Given the description of an element on the screen output the (x, y) to click on. 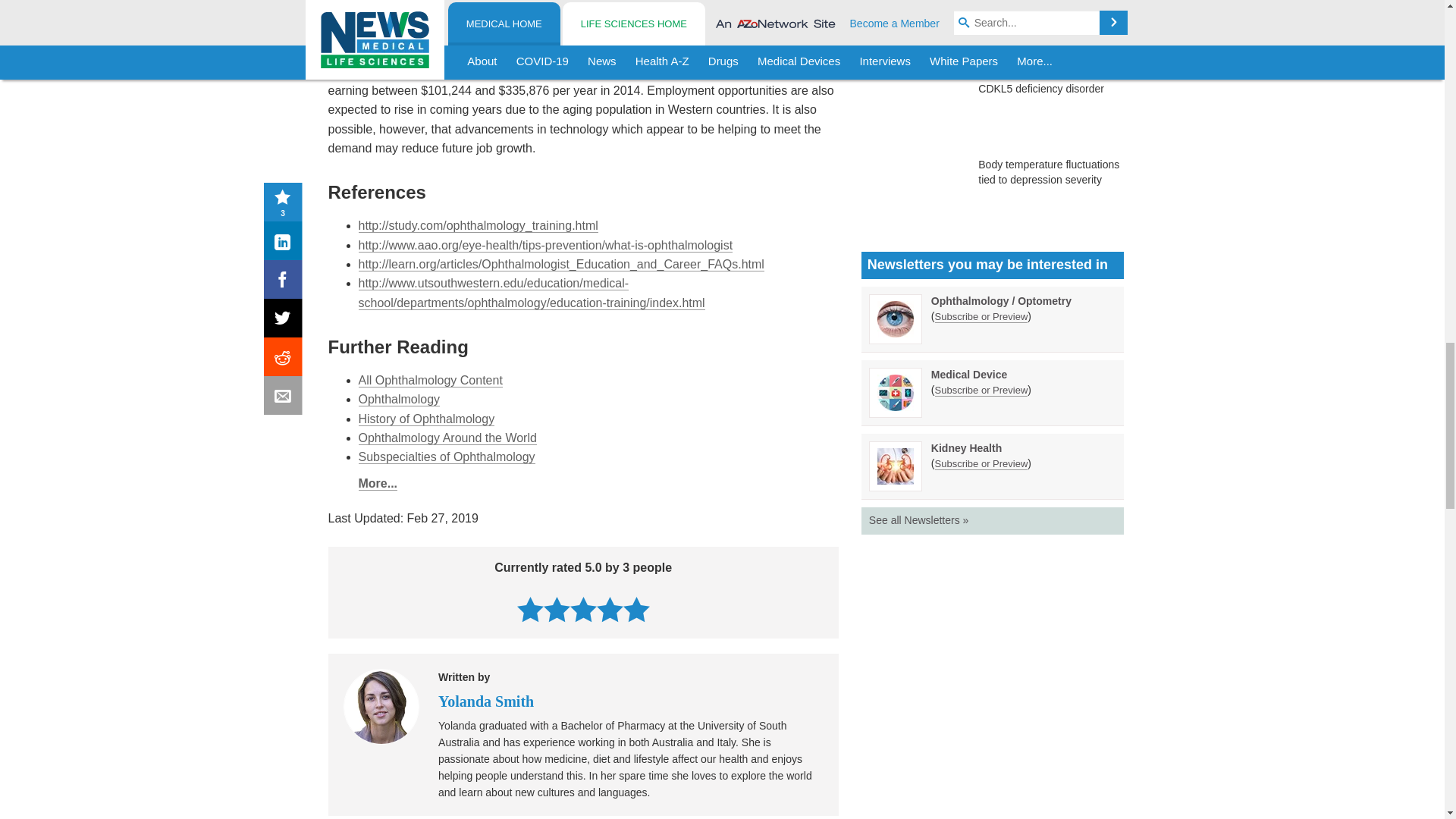
Rate this 1 star out of 5 (529, 609)
Rate this 4 stars out of 5 (609, 609)
Rate this 5 stars out of 5 (636, 609)
Rate this 3 stars out of 5 (583, 609)
Rate this 2 stars out of 5 (556, 609)
